Given the description of an element on the screen output the (x, y) to click on. 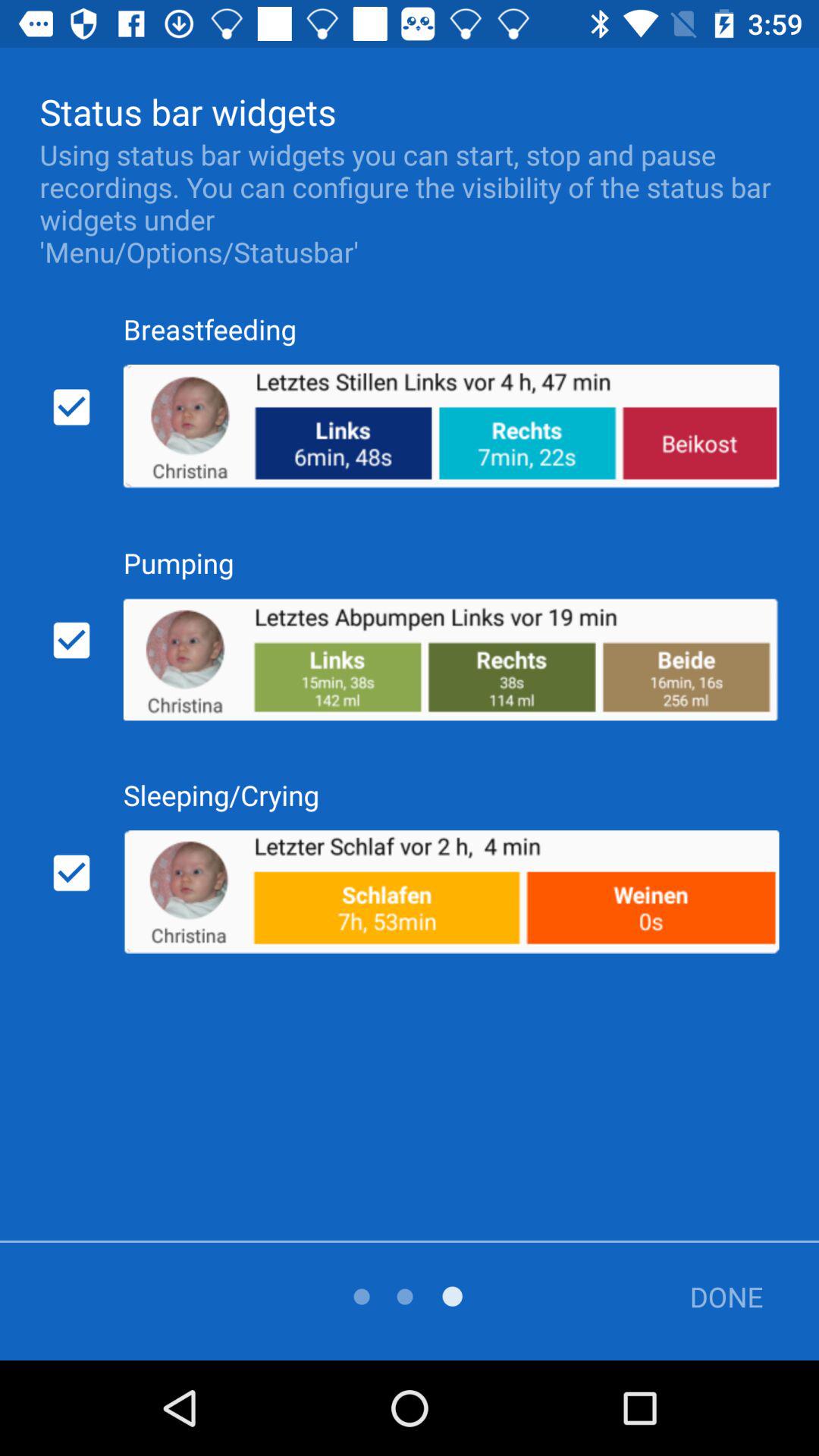
display status pumping (71, 640)
